Given the description of an element on the screen output the (x, y) to click on. 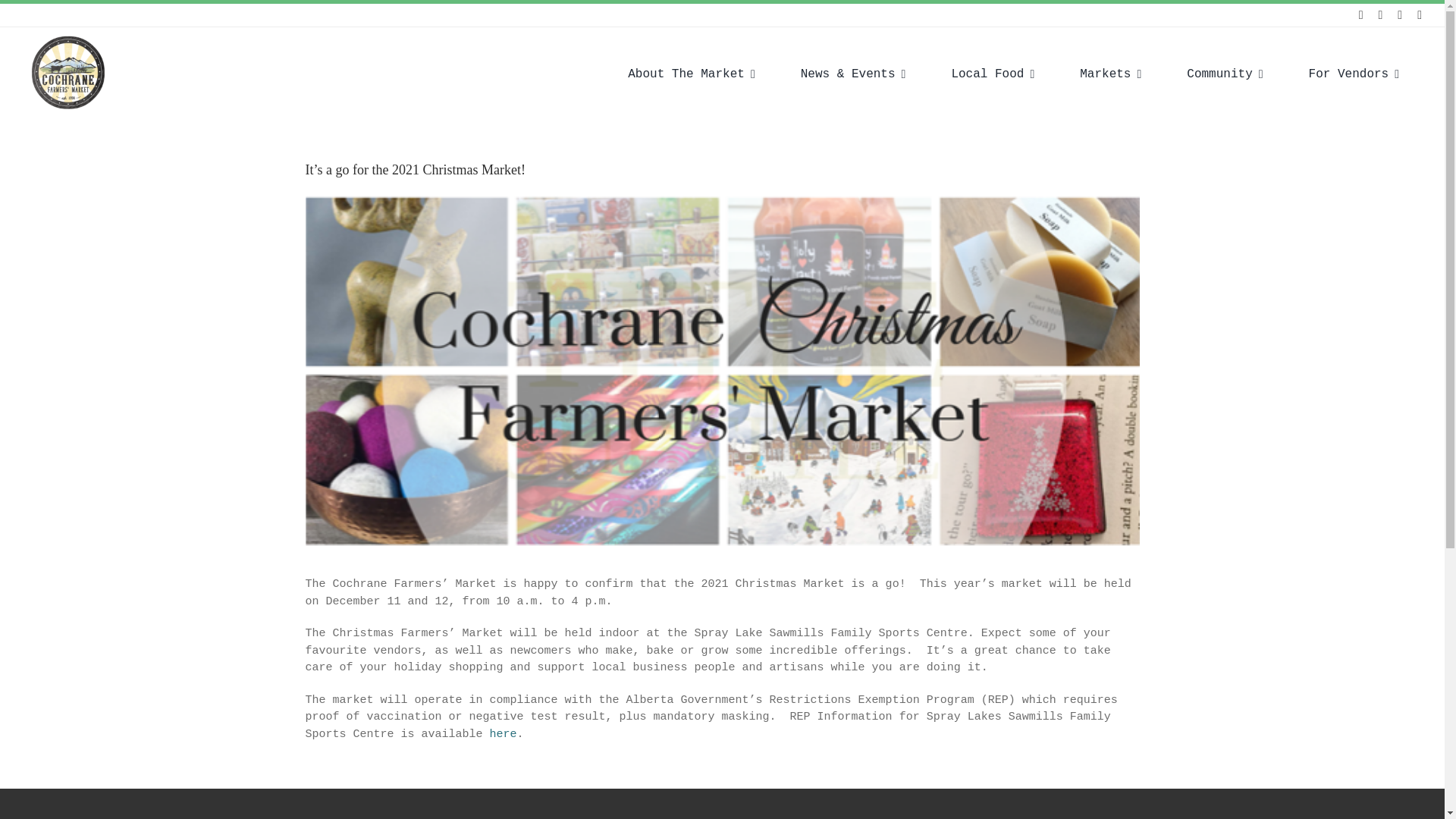
Markets (1110, 72)
About The Market (691, 72)
For Vendors (1353, 72)
here (502, 734)
Community (1224, 72)
Local Food (992, 72)
